Given the description of an element on the screen output the (x, y) to click on. 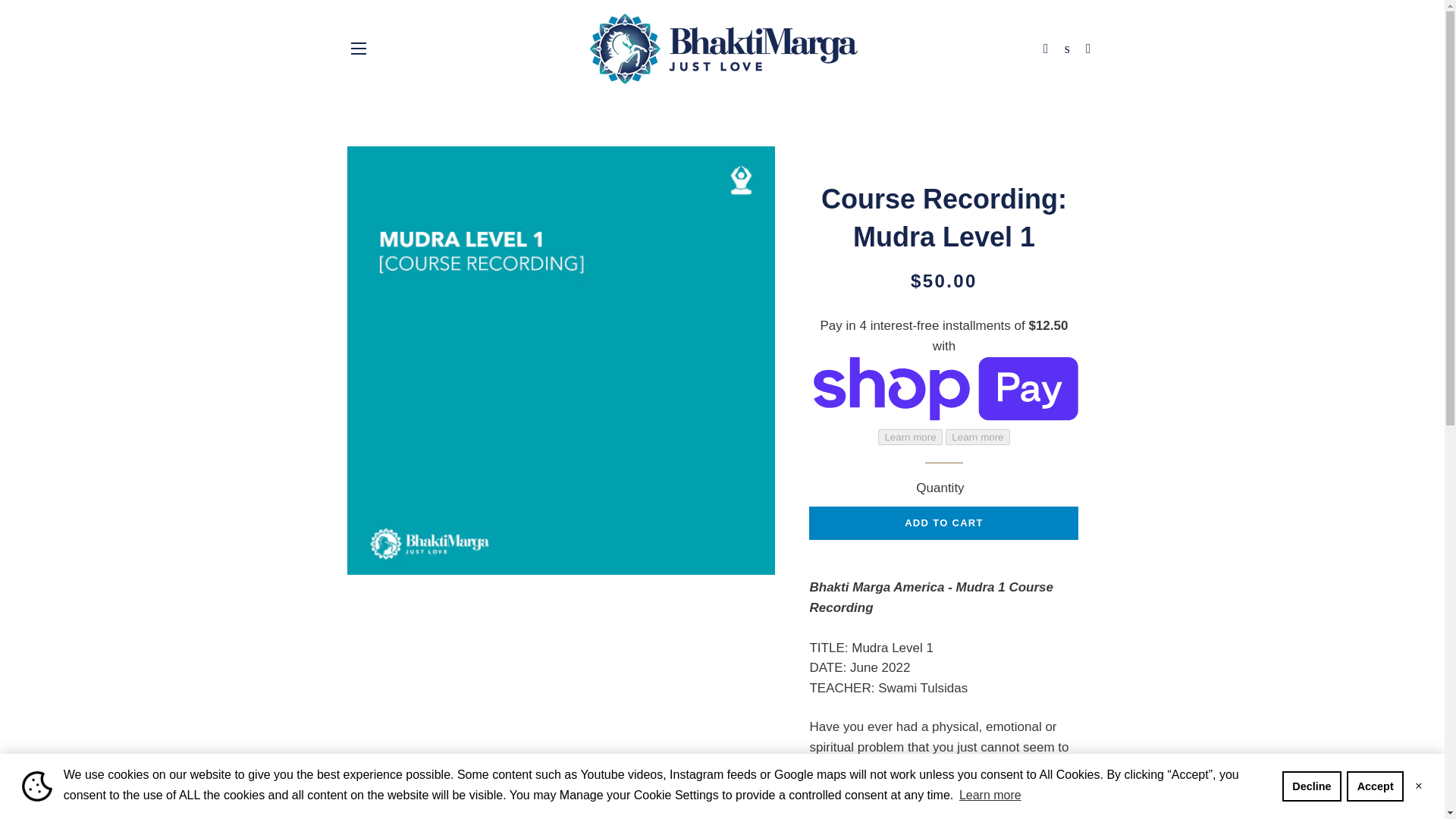
Accept (1374, 786)
Decline (1311, 786)
SITE NAVIGATION (358, 48)
ADD TO CART (943, 522)
Learn more (989, 794)
